Given the description of an element on the screen output the (x, y) to click on. 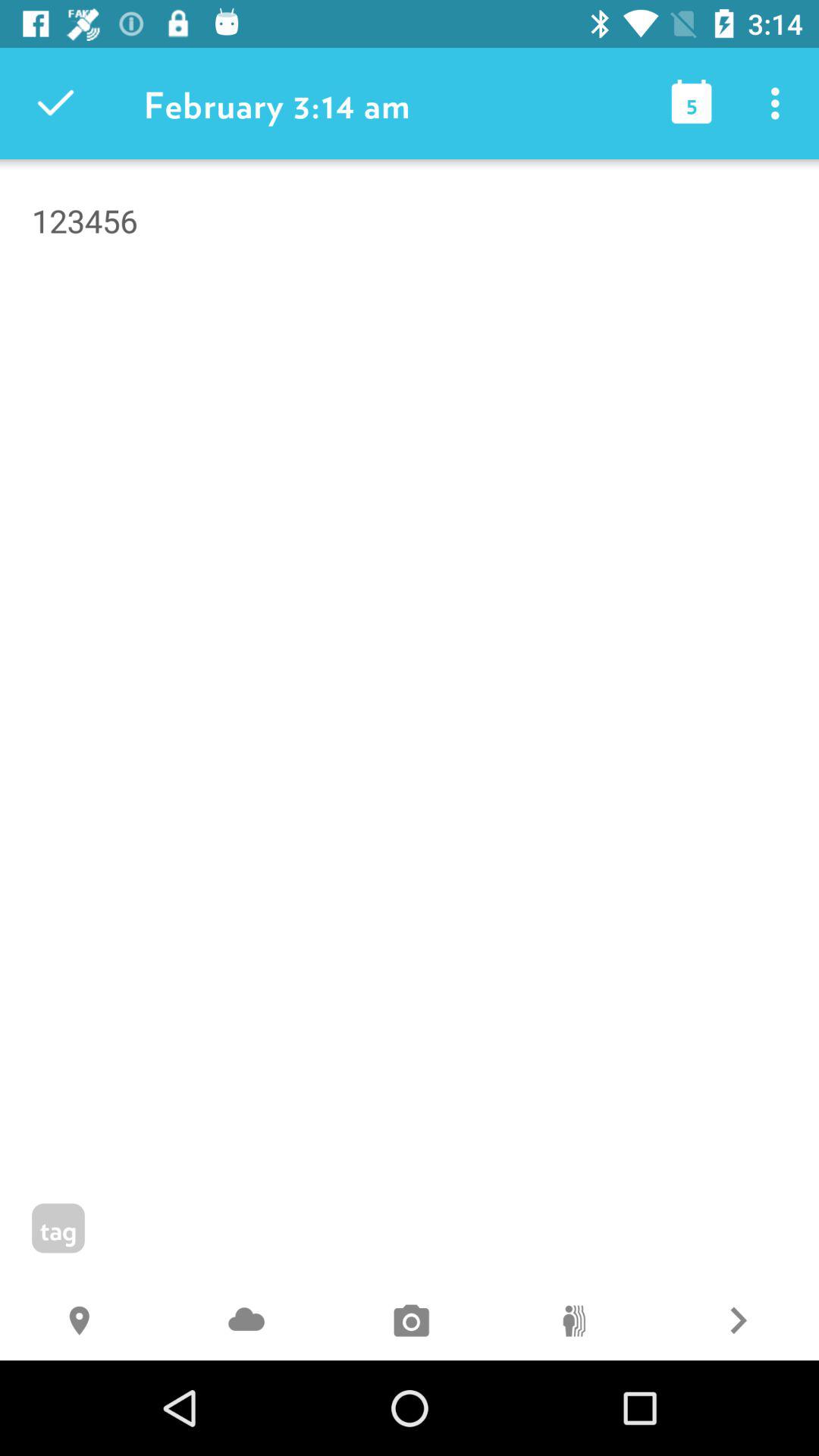
scroll to the h icon (81, 1322)
